Given the description of an element on the screen output the (x, y) to click on. 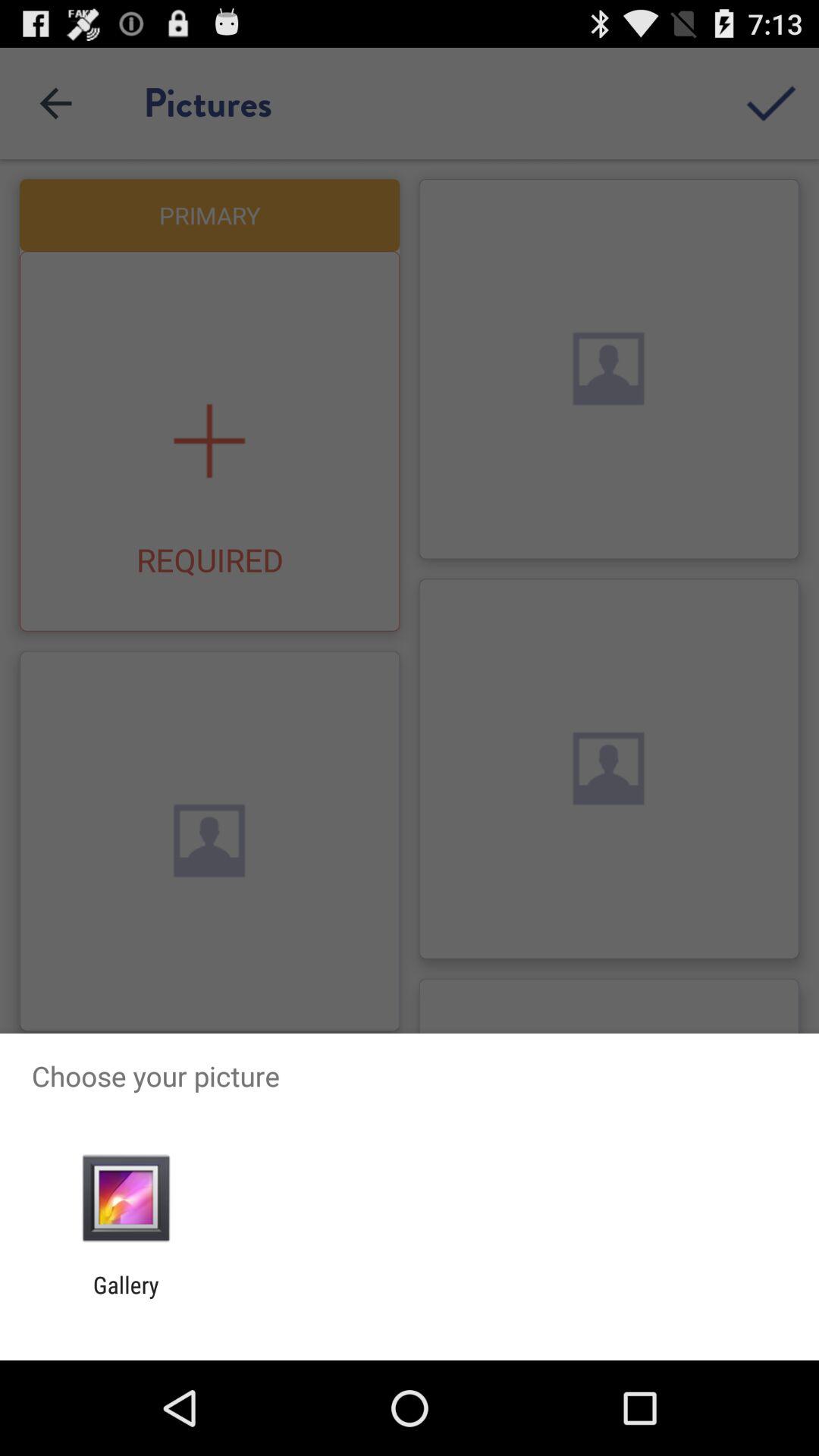
turn on app above gallery (126, 1198)
